Given the description of an element on the screen output the (x, y) to click on. 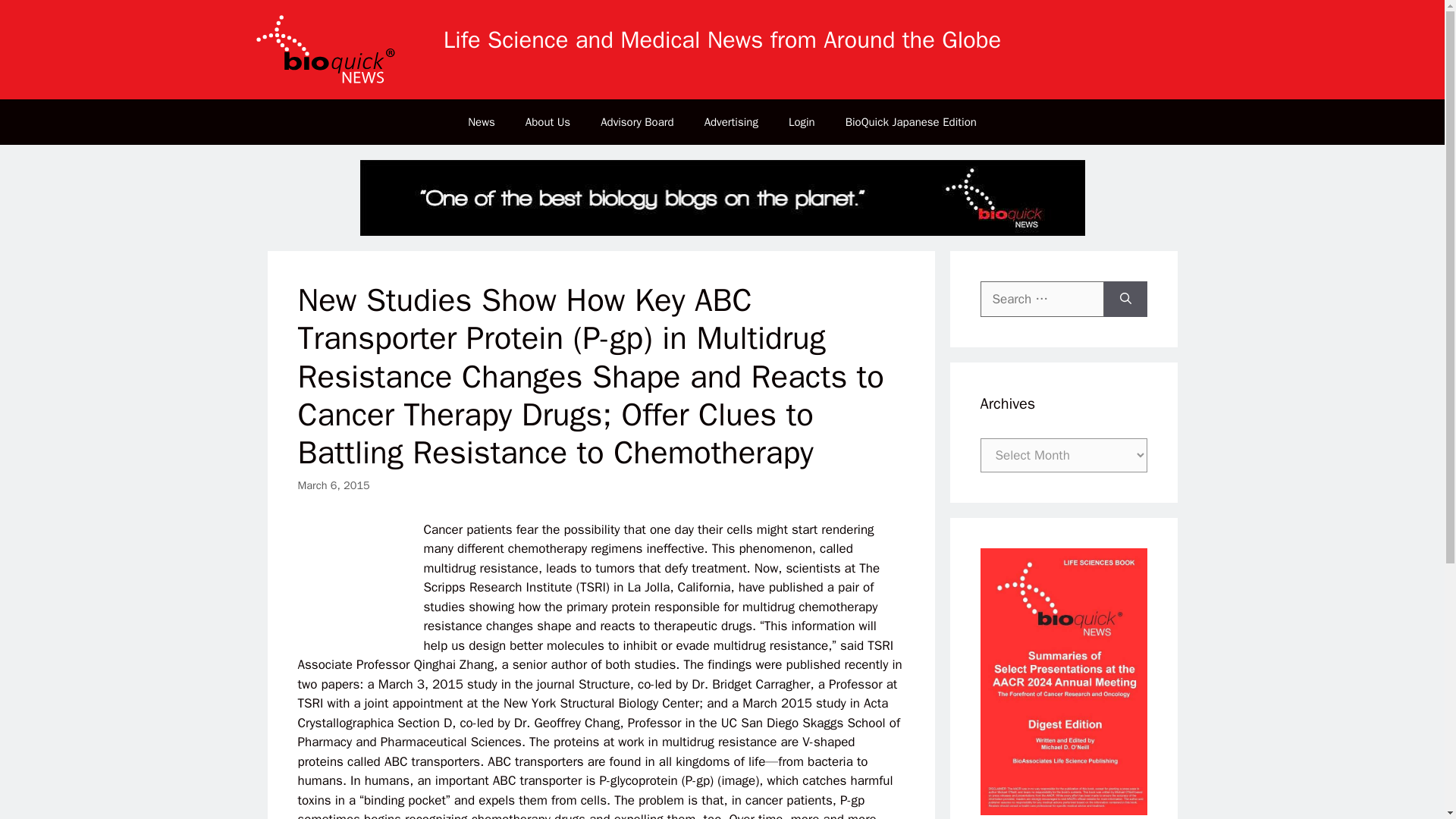
News (481, 121)
BioQuick Japanese Edition (910, 121)
Advertising (730, 121)
Search for: (1041, 299)
About Us (548, 121)
Login (801, 121)
Advisory Board (636, 121)
